Given the description of an element on the screen output the (x, y) to click on. 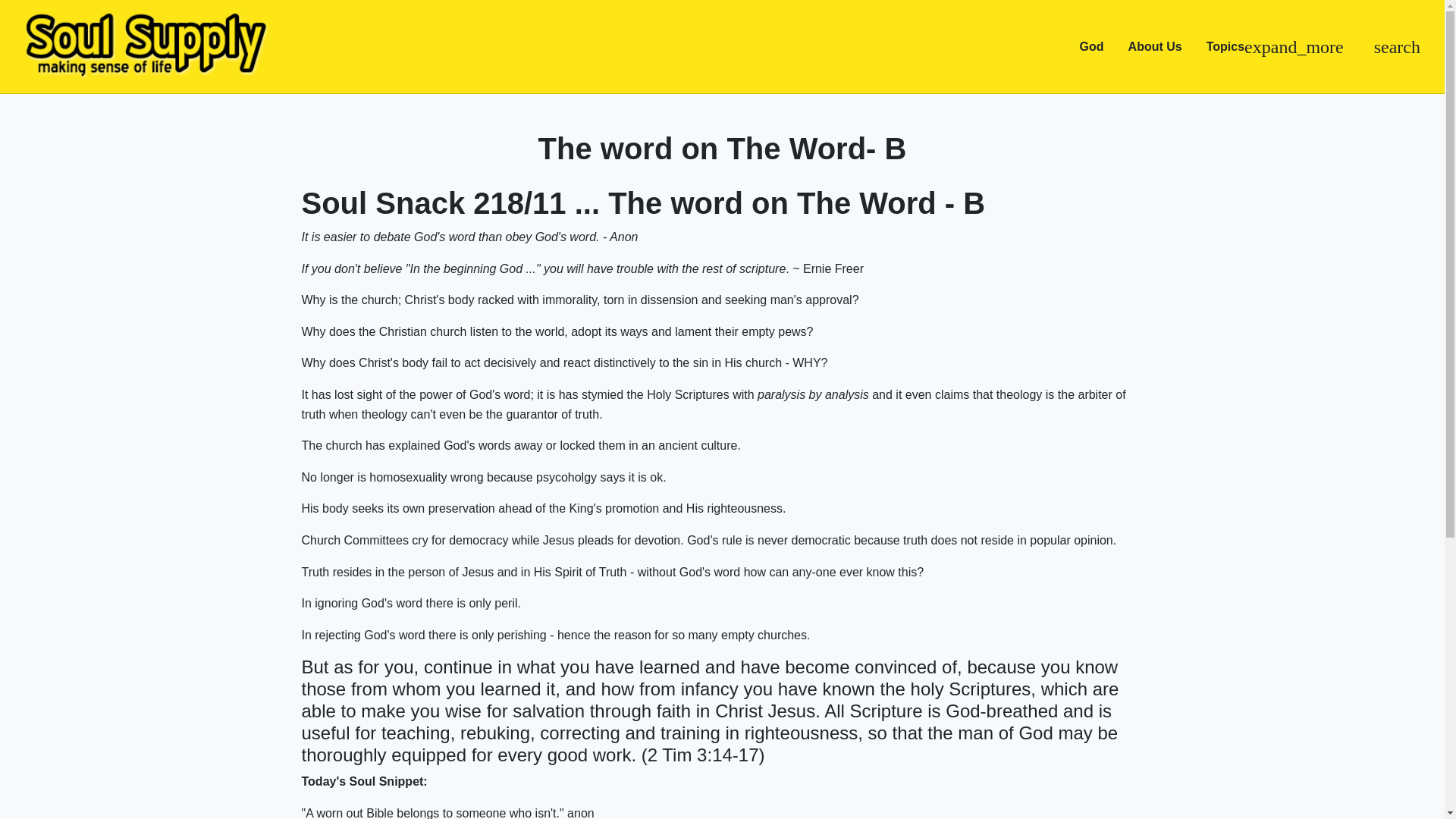
About Us (1154, 46)
Soul Supply logo (156, 46)
God  (1091, 46)
